Given the description of an element on the screen output the (x, y) to click on. 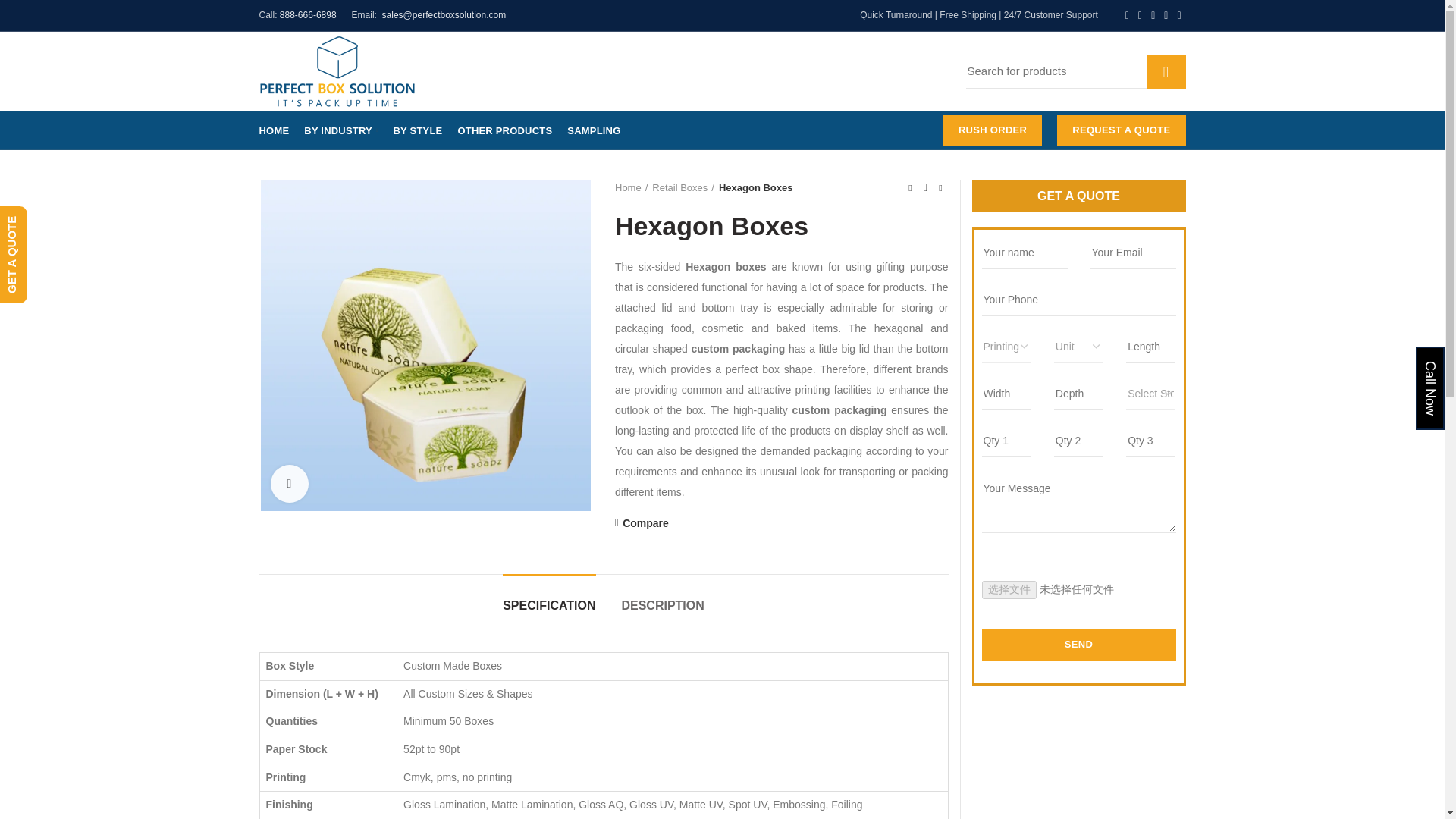
888-666-6898 (690, 70)
Send (1077, 644)
Hexagon-Boxes3 (425, 345)
BY INDUSTRY (341, 130)
888-666-6898 (307, 14)
HOME (274, 130)
SEARCH (1166, 71)
